Given the description of an element on the screen output the (x, y) to click on. 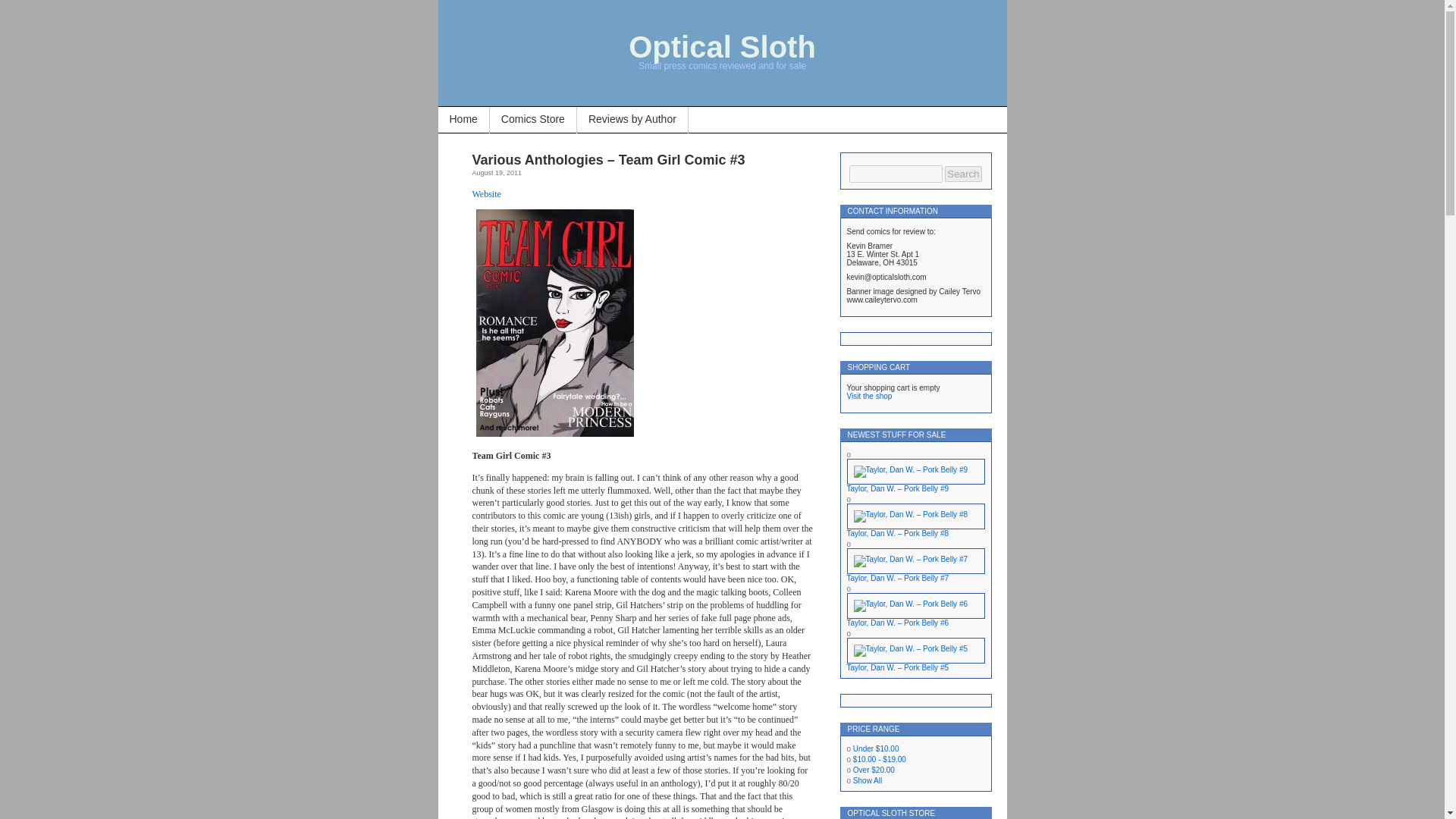
Reviews by Author (632, 120)
Comics Store (532, 120)
Website (485, 193)
Home (463, 120)
Visit Shop (868, 396)
Optical Sloth (721, 46)
Search (962, 173)
